Given the description of an element on the screen output the (x, y) to click on. 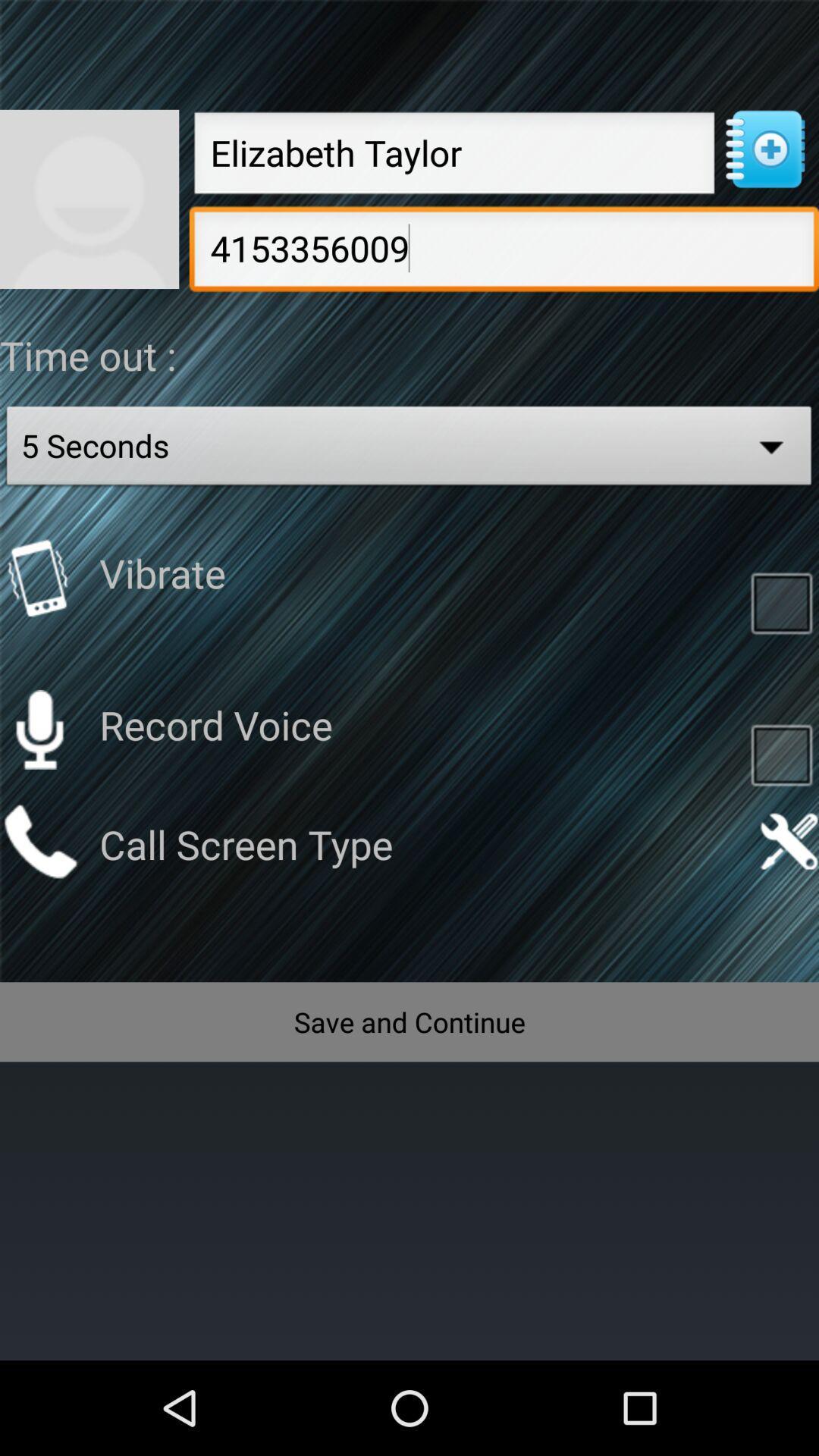
call contact (39, 841)
